Given the description of an element on the screen output the (x, y) to click on. 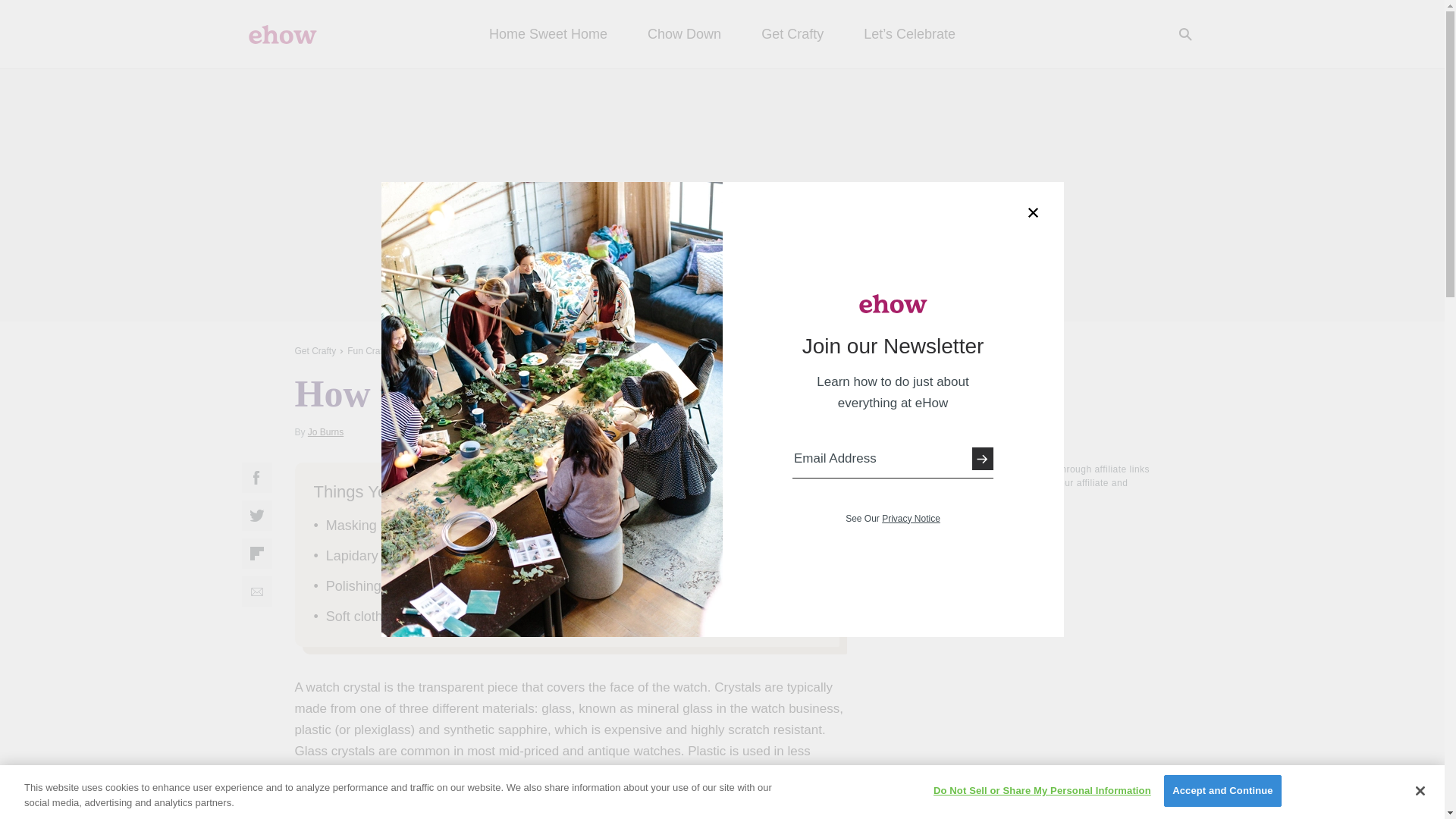
Learn more about our affiliate and product review process (1036, 496)
3rd party ad content (1035, 609)
3rd party ad content (721, 194)
